Given the description of an element on the screen output the (x, y) to click on. 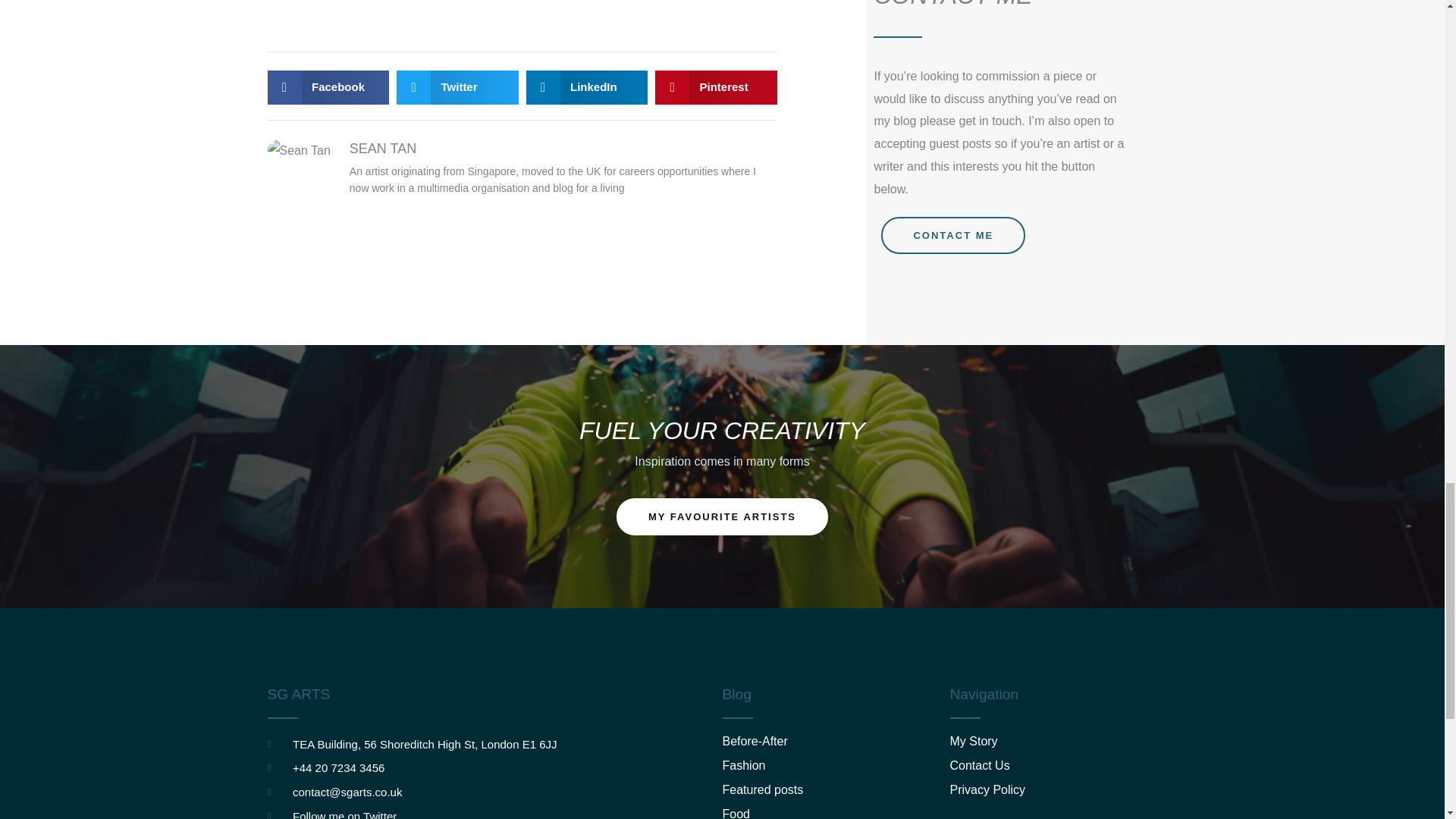
Food (835, 812)
Featured posts (835, 789)
Follow me on Twitter (494, 812)
Before-After (835, 741)
MY FAVOURITE ARTISTS (721, 516)
CONTACT ME (952, 235)
Fashion (835, 765)
